Given the description of an element on the screen output the (x, y) to click on. 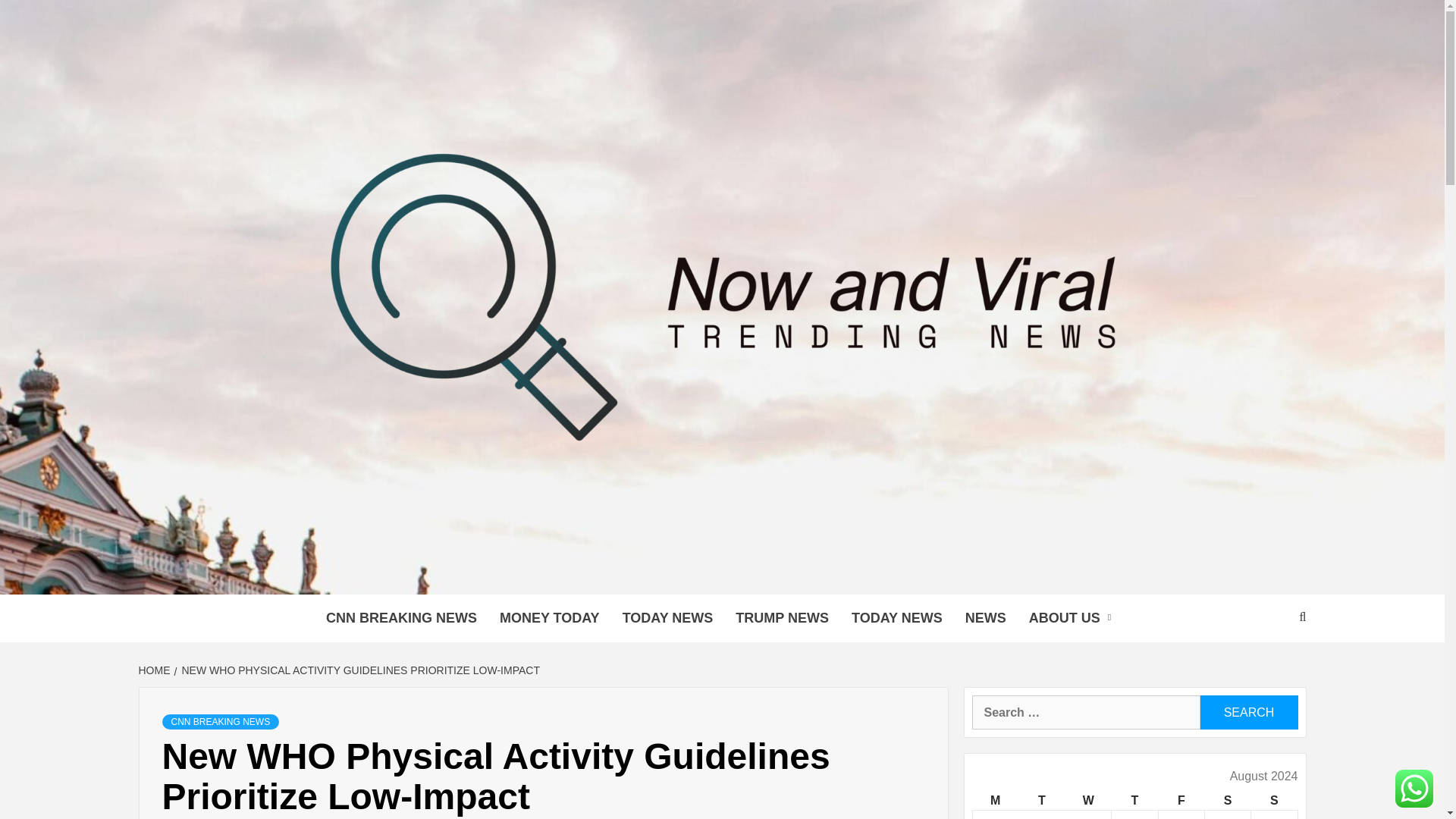
Wednesday (1088, 800)
NEW WHO PHYSICAL ACTIVITY GUIDELINES PRIORITIZE LOW-IMPACT (358, 670)
NOW AND VIRAL (449, 575)
Search (1248, 712)
NEWS (985, 618)
CNN BREAKING NEWS (400, 618)
MONEY TODAY (549, 618)
Search (1248, 712)
TRUMP NEWS (781, 618)
Thursday (1134, 800)
